Given the description of an element on the screen output the (x, y) to click on. 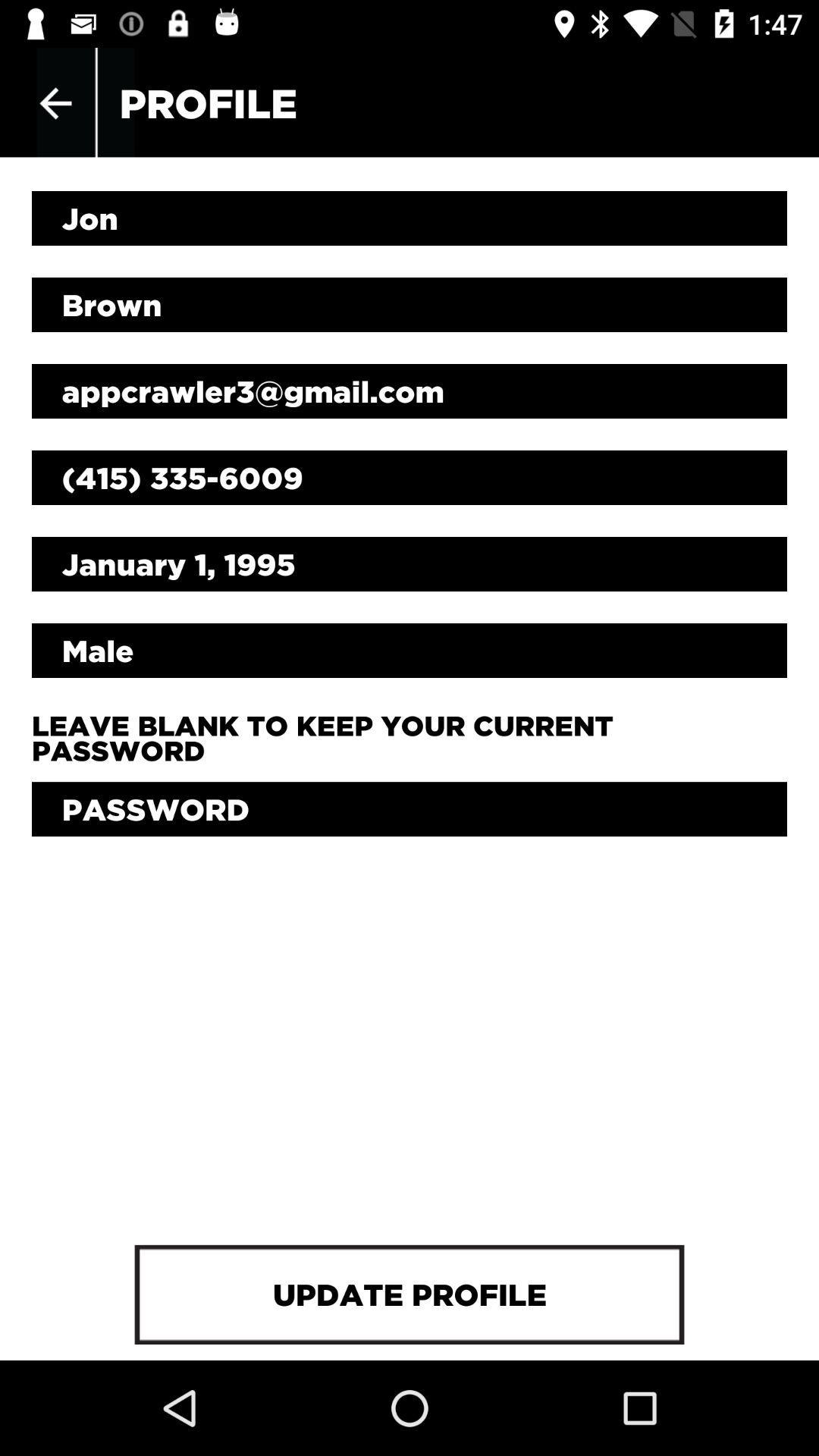
launch icon above the update profile item (409, 809)
